Given the description of an element on the screen output the (x, y) to click on. 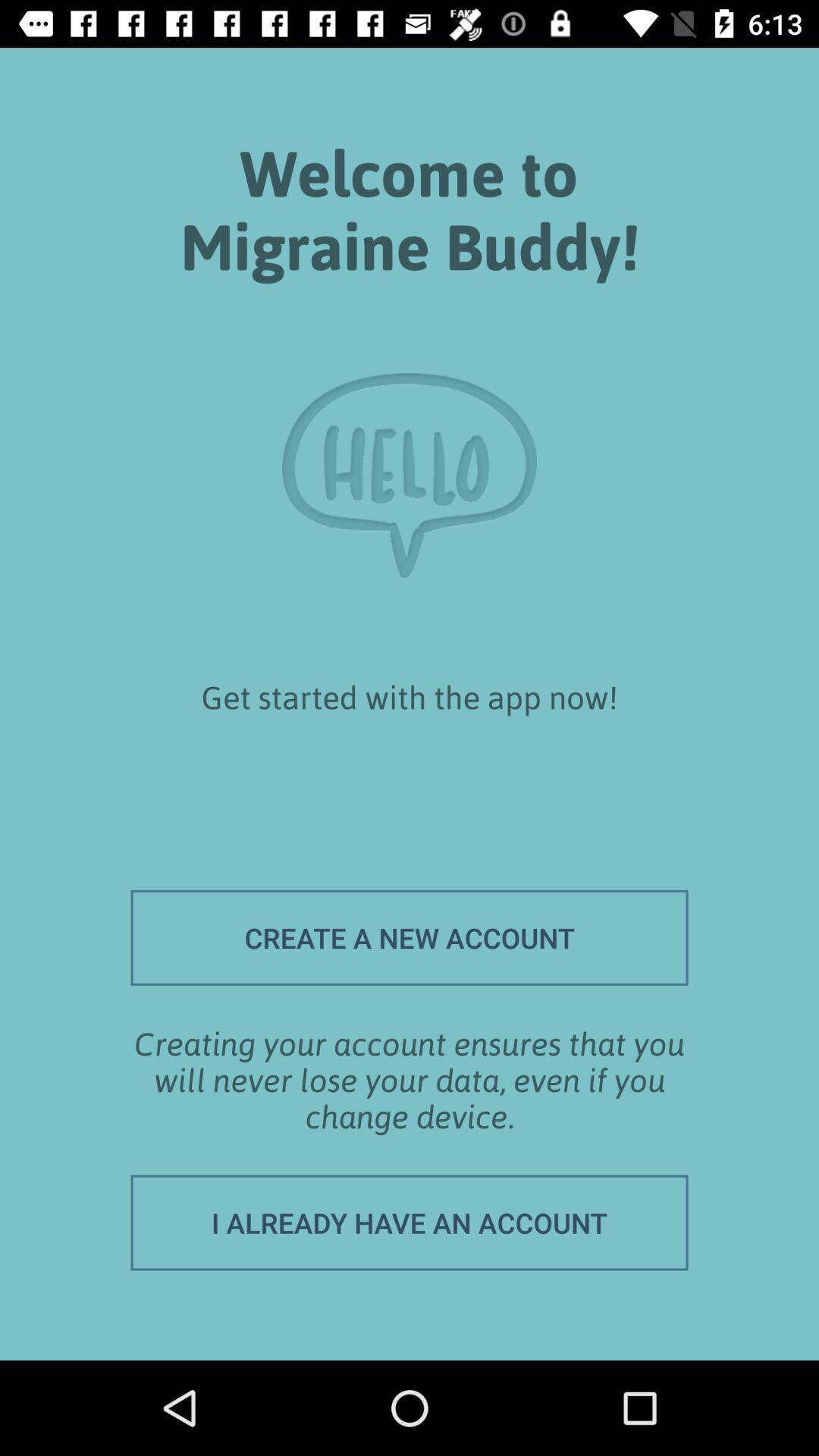
tap the icon above the creating your account item (409, 937)
